Given the description of an element on the screen output the (x, y) to click on. 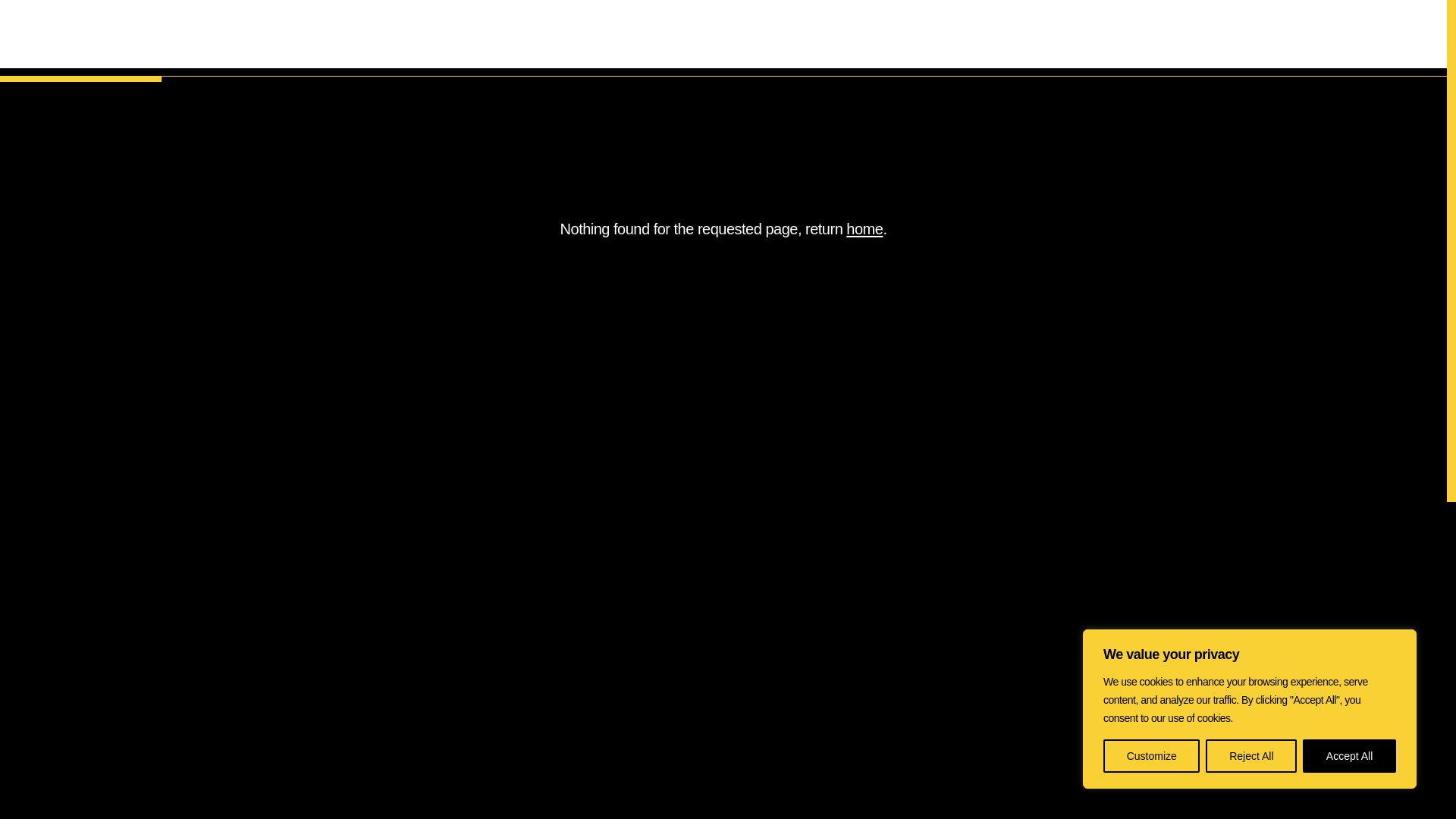
Reject All (1251, 756)
Careers (1305, 38)
Accept All (1349, 756)
About Us (987, 38)
Rohit Homes (669, 619)
About Us (449, 591)
home (863, 228)
Customize (1151, 756)
Our Leadership (468, 619)
Rohit Communities (688, 591)
Community (456, 646)
Contact (1385, 38)
Our Brands (1085, 38)
